Given the description of an element on the screen output the (x, y) to click on. 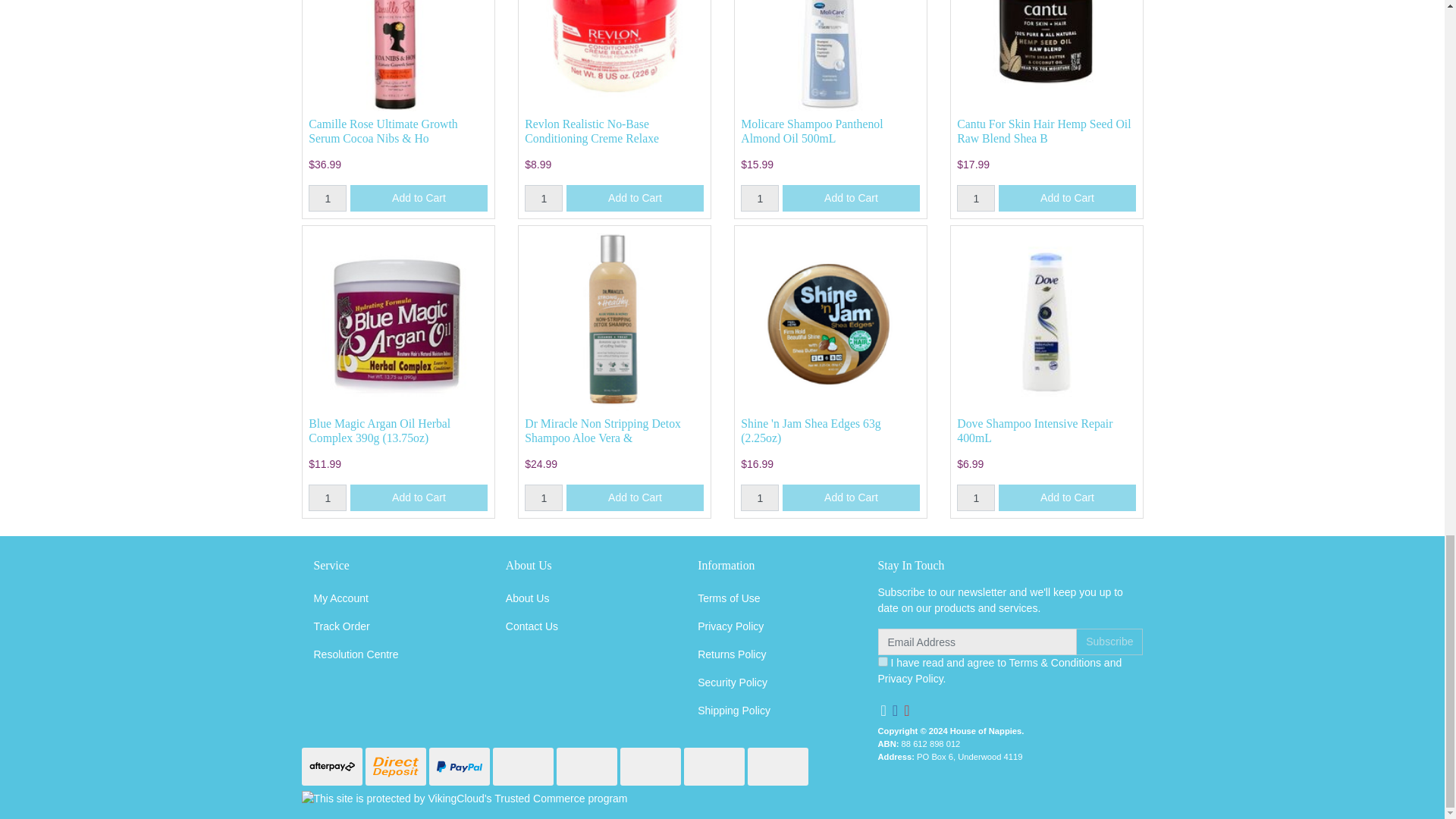
1 (543, 198)
1 (327, 198)
1 (759, 497)
1 (759, 198)
Add Dove Shampoo Intensive Repair 400mL to Cart (1066, 497)
y (882, 661)
Subscribe (1108, 641)
1 (543, 497)
1 (975, 198)
1 (327, 497)
Add Molicare Shampoo Panthenol Almond Oil 500mL to Cart (850, 198)
1 (975, 497)
